Given the description of an element on the screen output the (x, y) to click on. 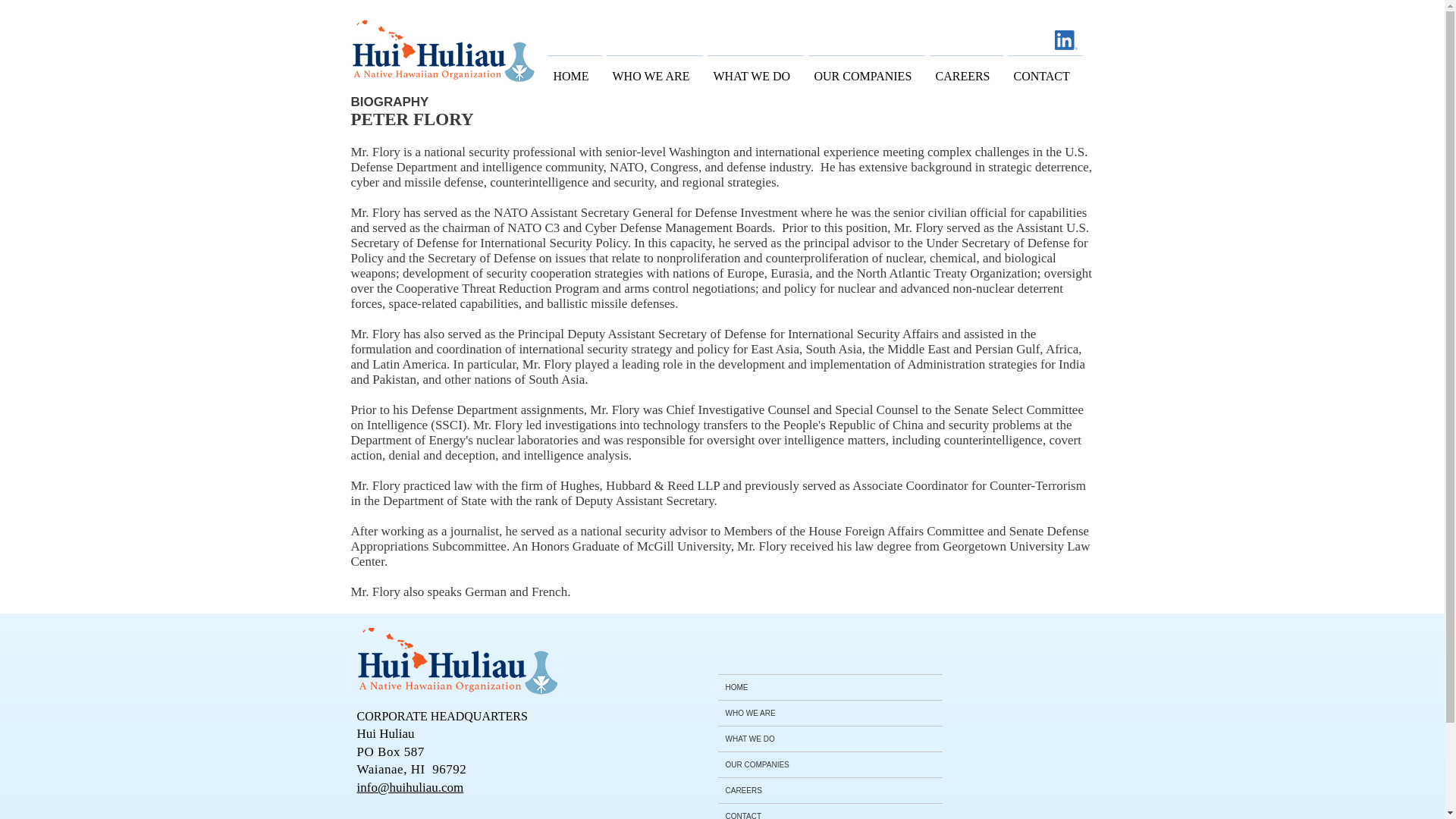
OUR COMPANIES (829, 764)
CAREERS (829, 790)
CONTACT (1045, 69)
HOME (574, 69)
CAREERS (965, 69)
HOME (829, 687)
OUR COMPANIES (865, 69)
CONTACT (829, 811)
